Given the description of an element on the screen output the (x, y) to click on. 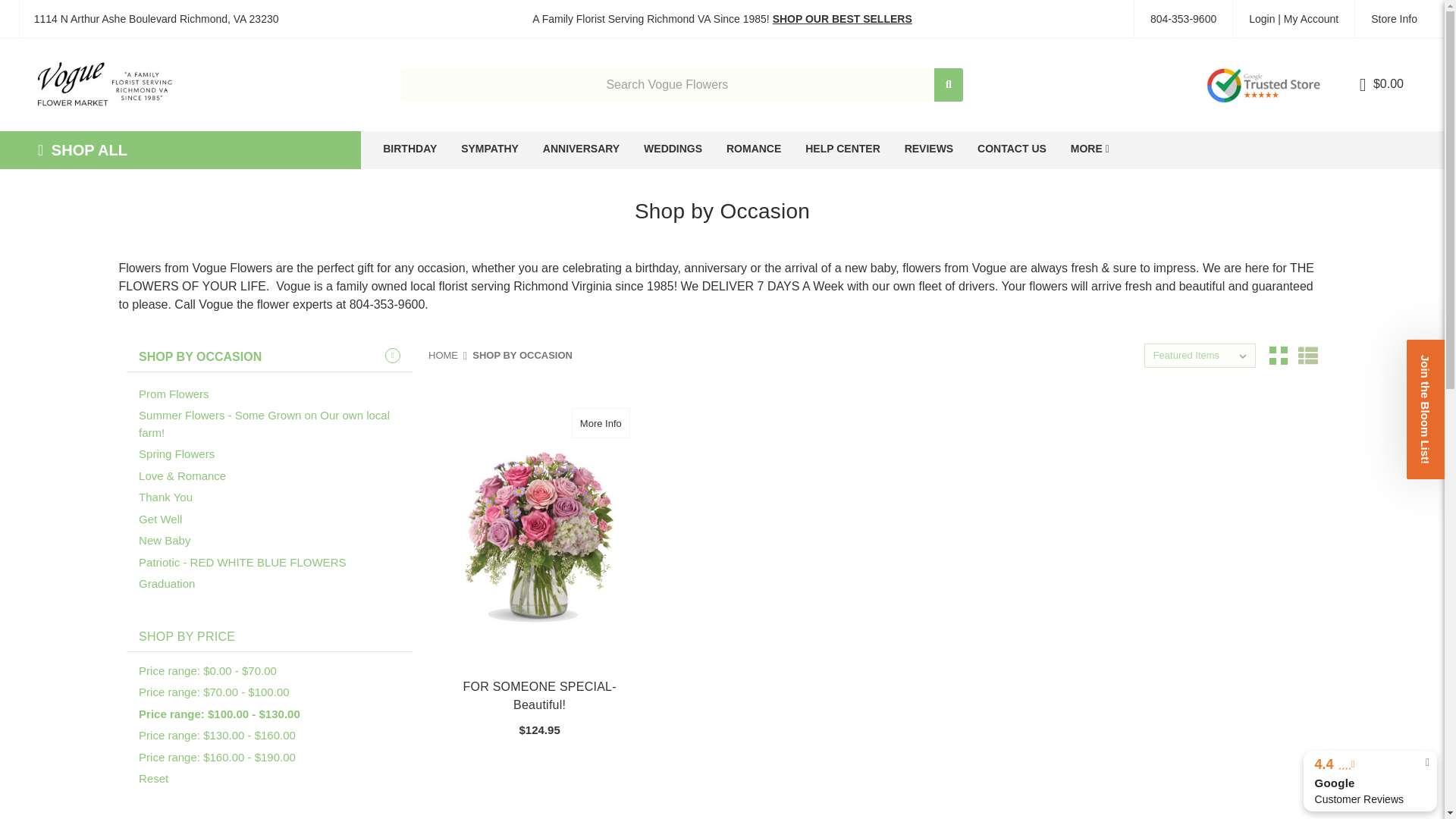
804-353-9600 (1182, 18)
Thank You (275, 497)
Summer Flowers - Some Grown on Our own local farm! (275, 423)
Get Well  (275, 519)
Spring Flowers (275, 454)
New Baby (275, 540)
FOR SOMEONE SPECIAL (538, 531)
Graduation (275, 584)
Prom Flowers (275, 394)
Patriotic - RED WHITE BLUE FLOWERS (275, 563)
Store Info (1393, 18)
Vogue Flowers (106, 84)
SHOP OUR BEST SELLERS (842, 18)
